Given the description of an element on the screen output the (x, y) to click on. 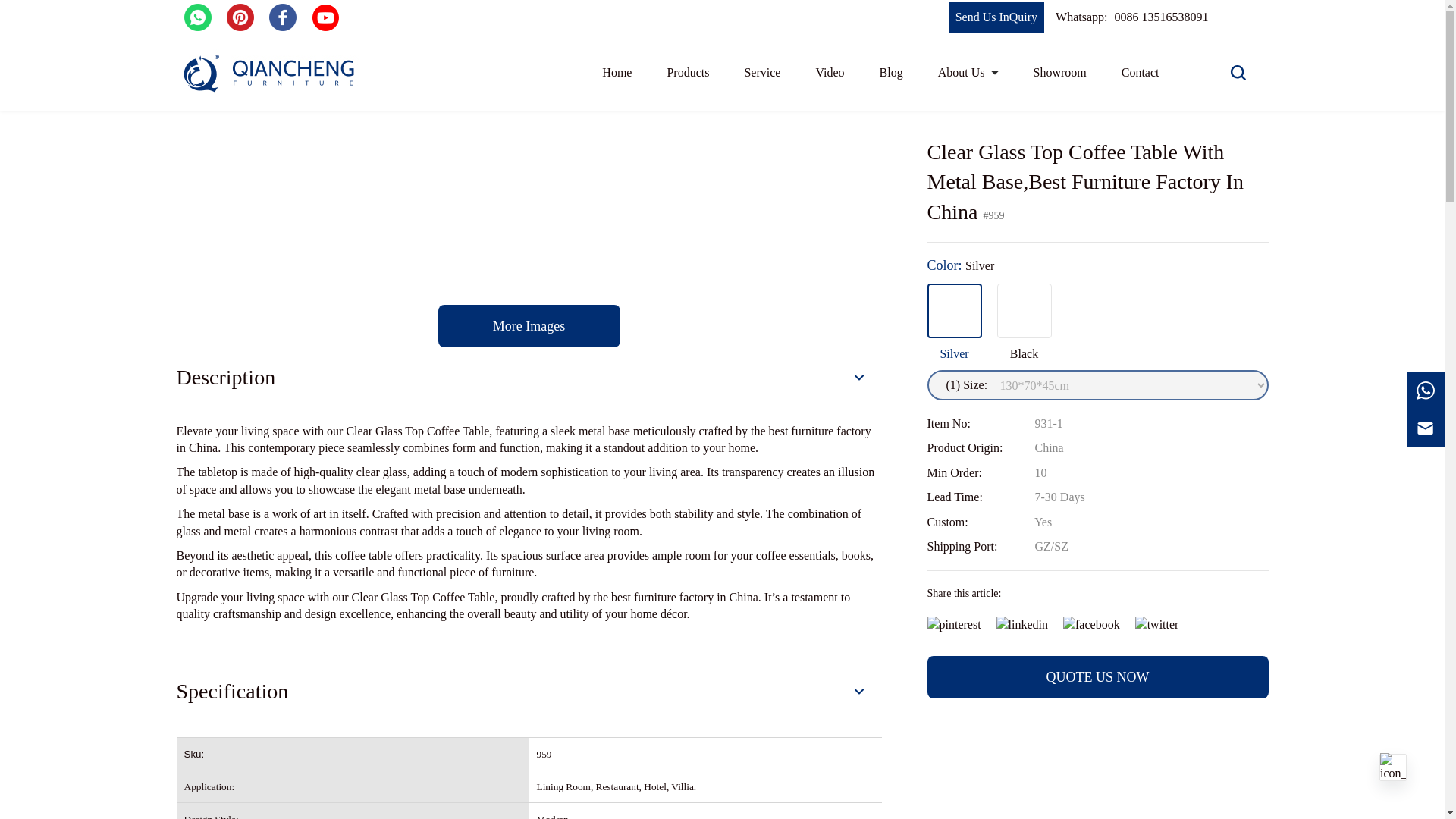
Service (761, 72)
About Us (968, 72)
Products (687, 74)
0086 13516538091 (1160, 19)
Send Us InQuiry (996, 19)
